Given the description of an element on the screen output the (x, y) to click on. 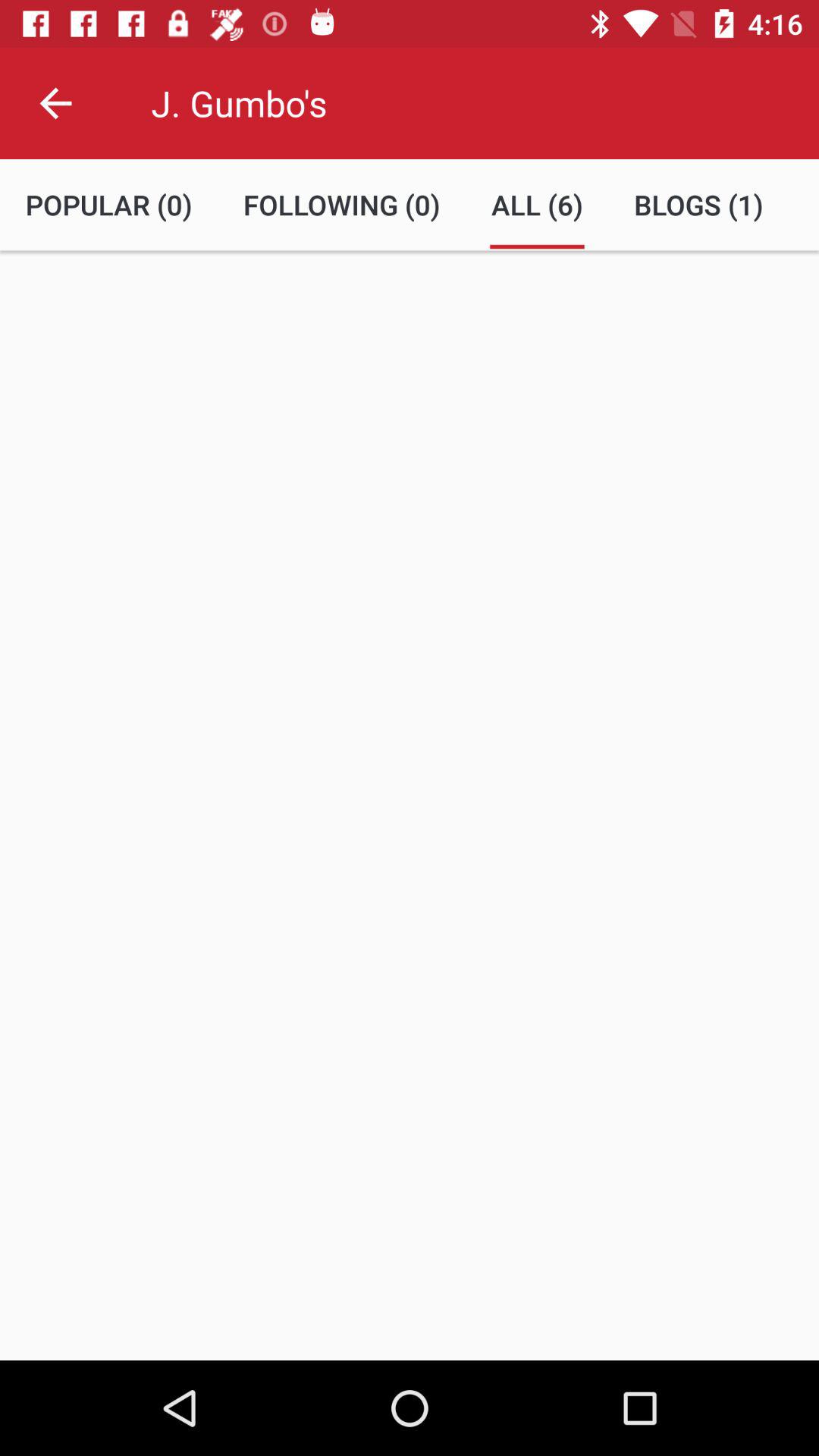
turn on the popular (0) item (108, 204)
